Given the description of an element on the screen output the (x, y) to click on. 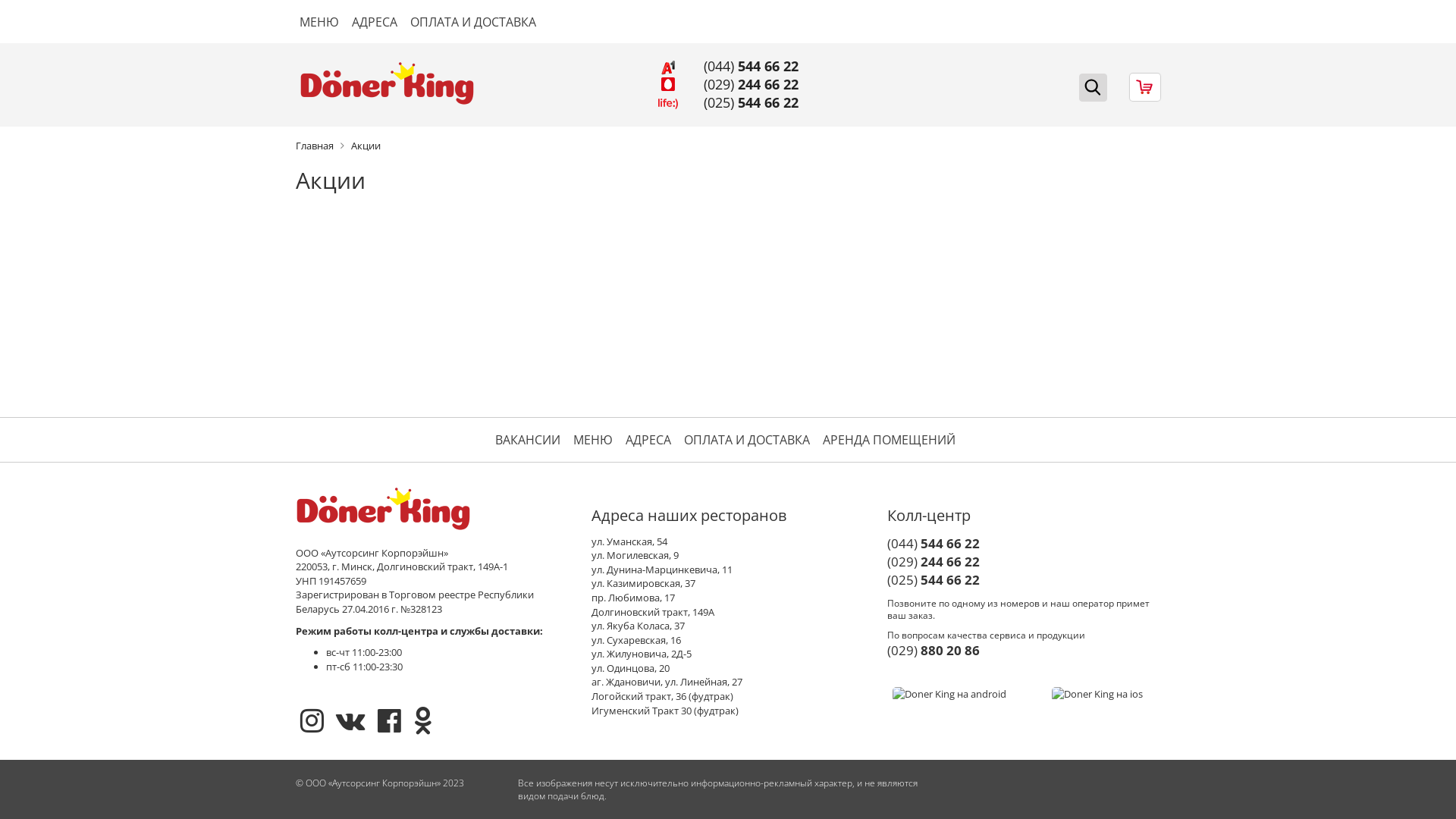
(029) 880 20 86 Element type: text (1023, 650)
(044) 544 66 22 Element type: text (750, 65)
(029) 244 66 22 Element type: text (750, 84)
(025) 544 66 22 Element type: text (750, 102)
(044) 544 66 22 Element type: text (1023, 543)
(029) 244 66 22 Element type: text (1023, 561)
(025) 544 66 22 Element type: text (1023, 580)
